Given the description of an element on the screen output the (x, y) to click on. 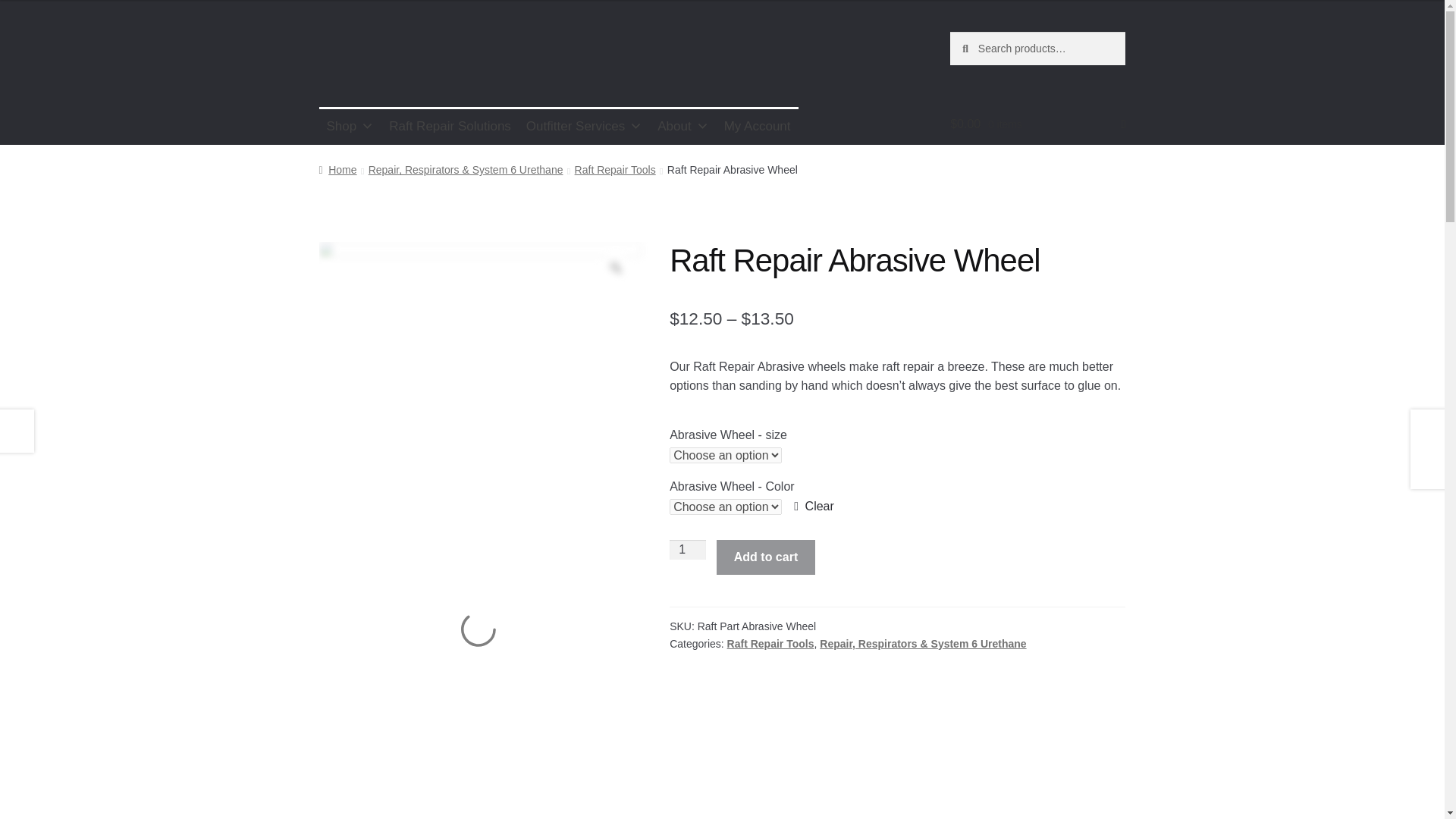
Shop (349, 125)
1 (687, 549)
Raft Repair Solutions (449, 125)
View your shopping cart (1037, 124)
Outfitter Services (583, 125)
